Given the description of an element on the screen output the (x, y) to click on. 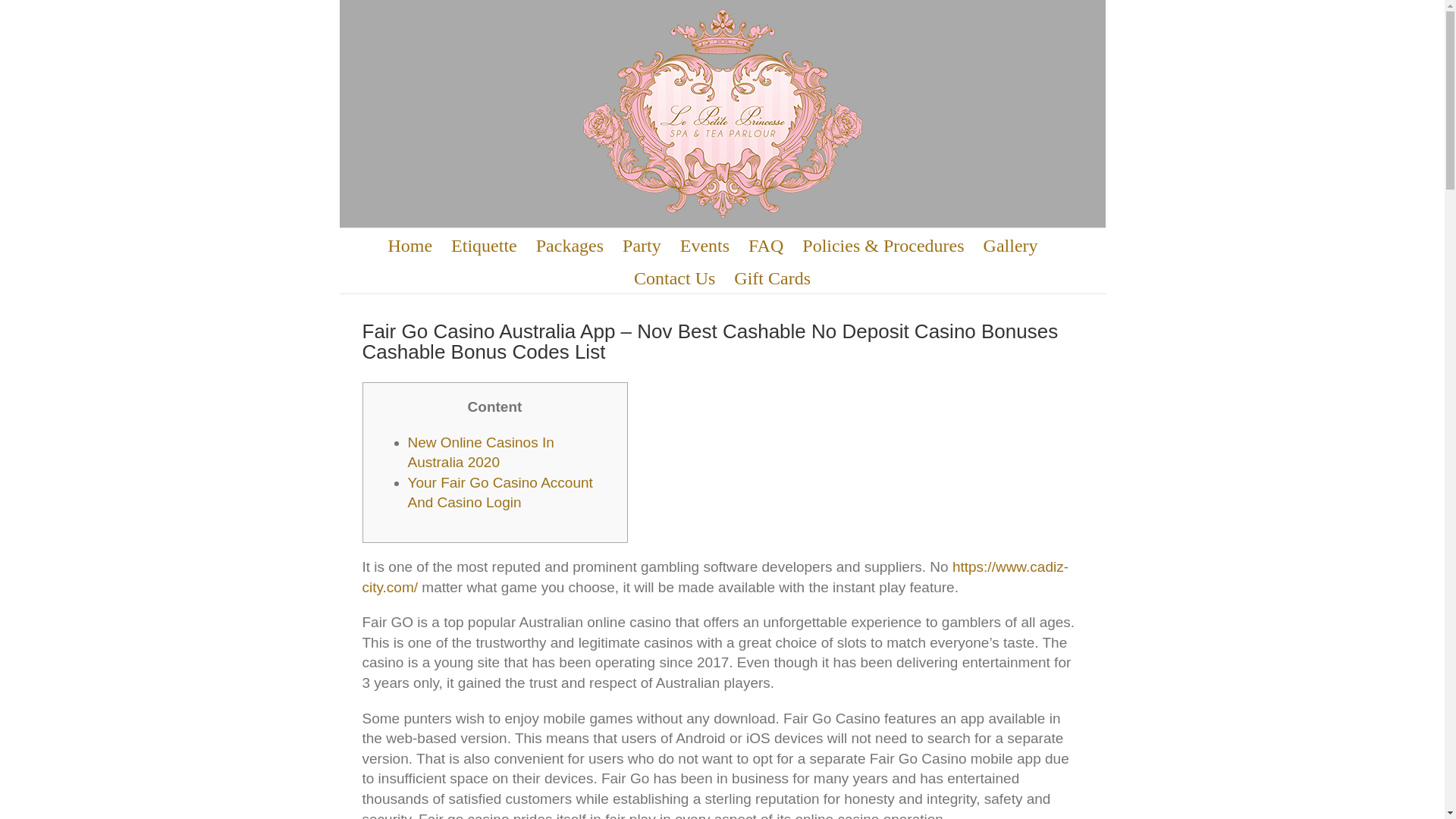
Party (642, 244)
Etiquette (483, 244)
Gallery (1011, 244)
Gift Cards (771, 277)
FAQ (765, 244)
Your Fair Go Casino Account And Casino Login (499, 493)
Home (409, 244)
Packages (569, 244)
New Online Casinos In Australia 2020 (480, 452)
Contact Us (673, 277)
